Given the description of an element on the screen output the (x, y) to click on. 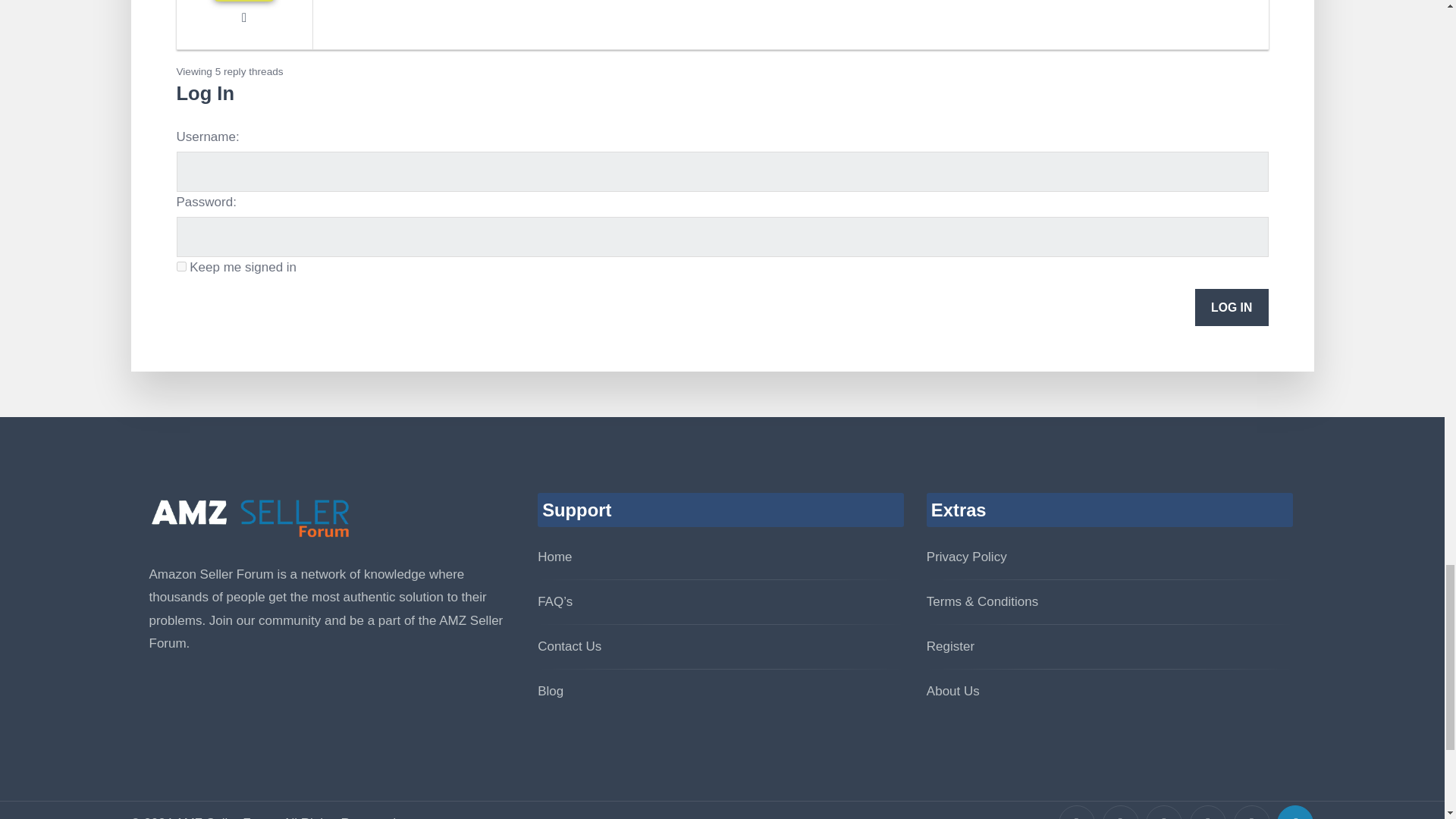
LOG IN (1231, 307)
forever (181, 266)
Home (554, 556)
